Given the description of an element on the screen output the (x, y) to click on. 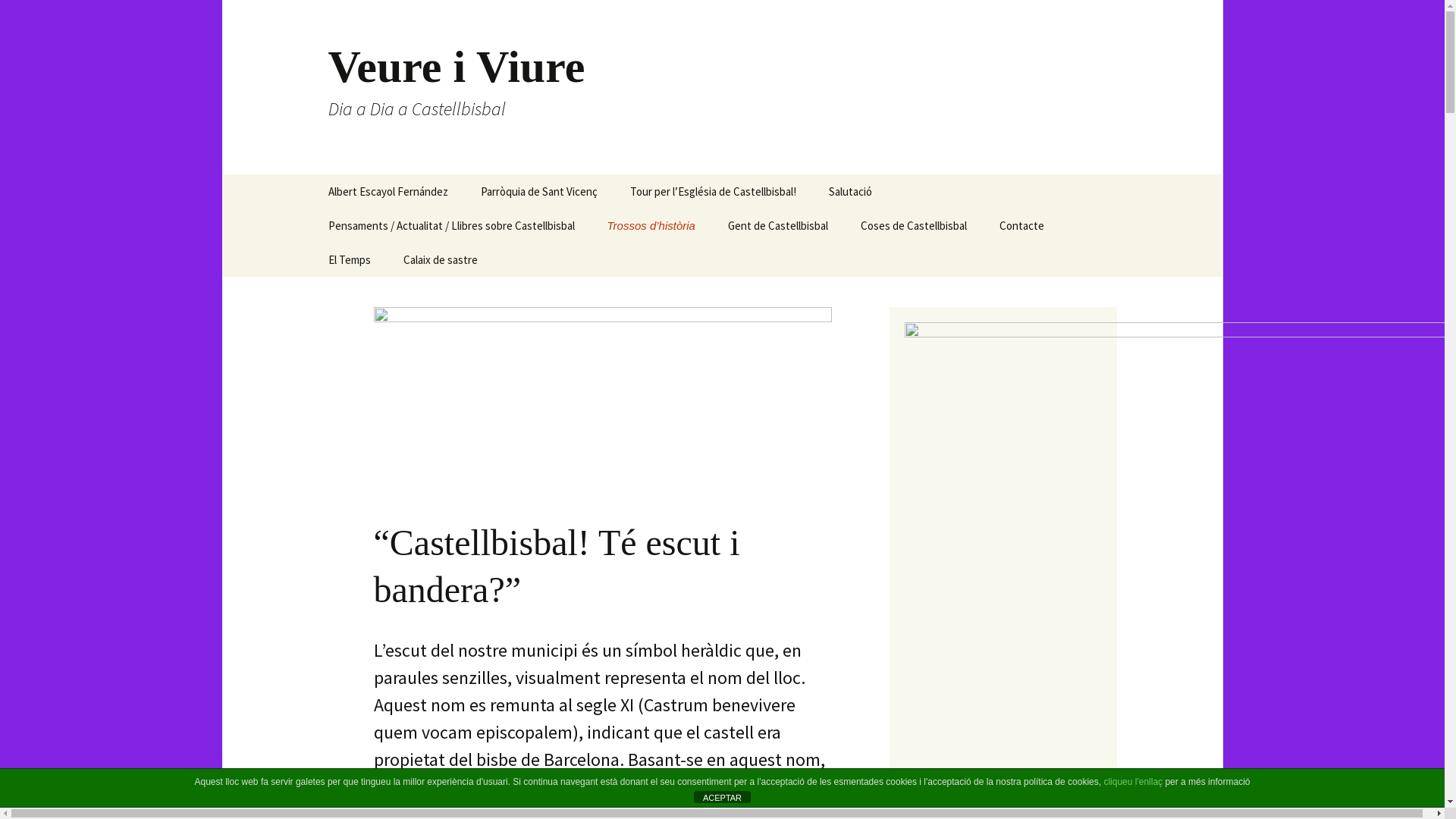
Homenatge a El Papissot Element type: text (888, 225)
Veure i Viure
Dia a Dia a Castellbisbal Element type: text (721, 87)
Contacte Element type: text (1021, 225)
Gent de Castellbisbal Element type: text (777, 225)
Cerca Element type: text (18, 16)
Alguns fragments del retaule van ser salvats Element type: text (541, 231)
Calaix de sastre Element type: text (440, 259)
Coses de Castellbisbal Element type: text (913, 225)
ACEPTAR Element type: text (721, 796)
Diferents Pessebres de guix, vegetals i vius Element type: text (788, 265)
El Temps Element type: text (348, 259)
Pensaments / Actualitat / Llibres sobre Castellbisbal Element type: text (450, 225)
CAMINADES CONSCIENTS PER CASTELLBISBAL Element type: text (388, 236)
